Given the description of an element on the screen output the (x, y) to click on. 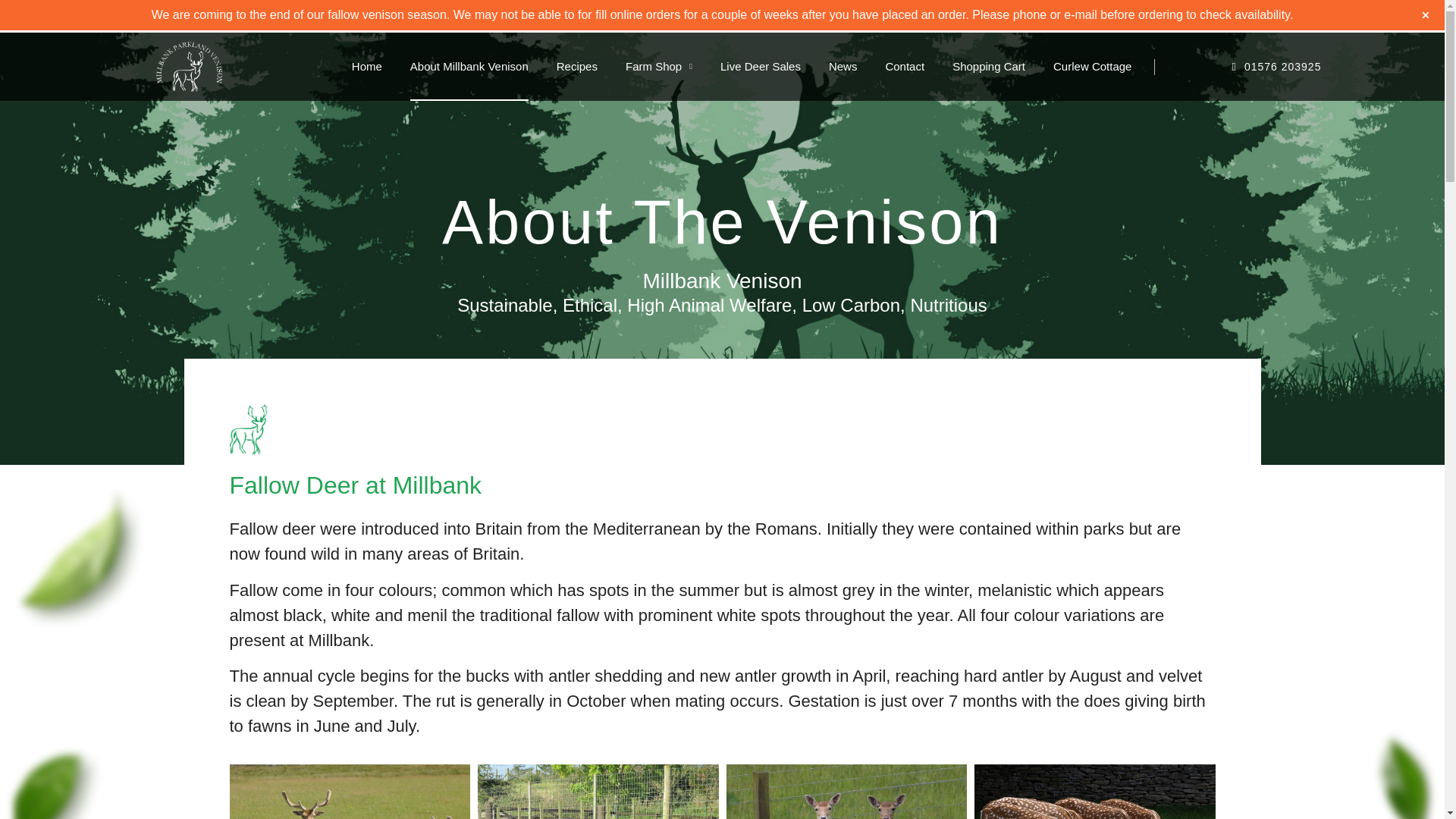
Curlew Cottage (1091, 66)
Farm Shop (659, 66)
Live Deer Sales (760, 66)
Shopping Cart (988, 66)
About Millbank Venison (469, 66)
01576 203925 (1237, 66)
